Given the description of an element on the screen output the (x, y) to click on. 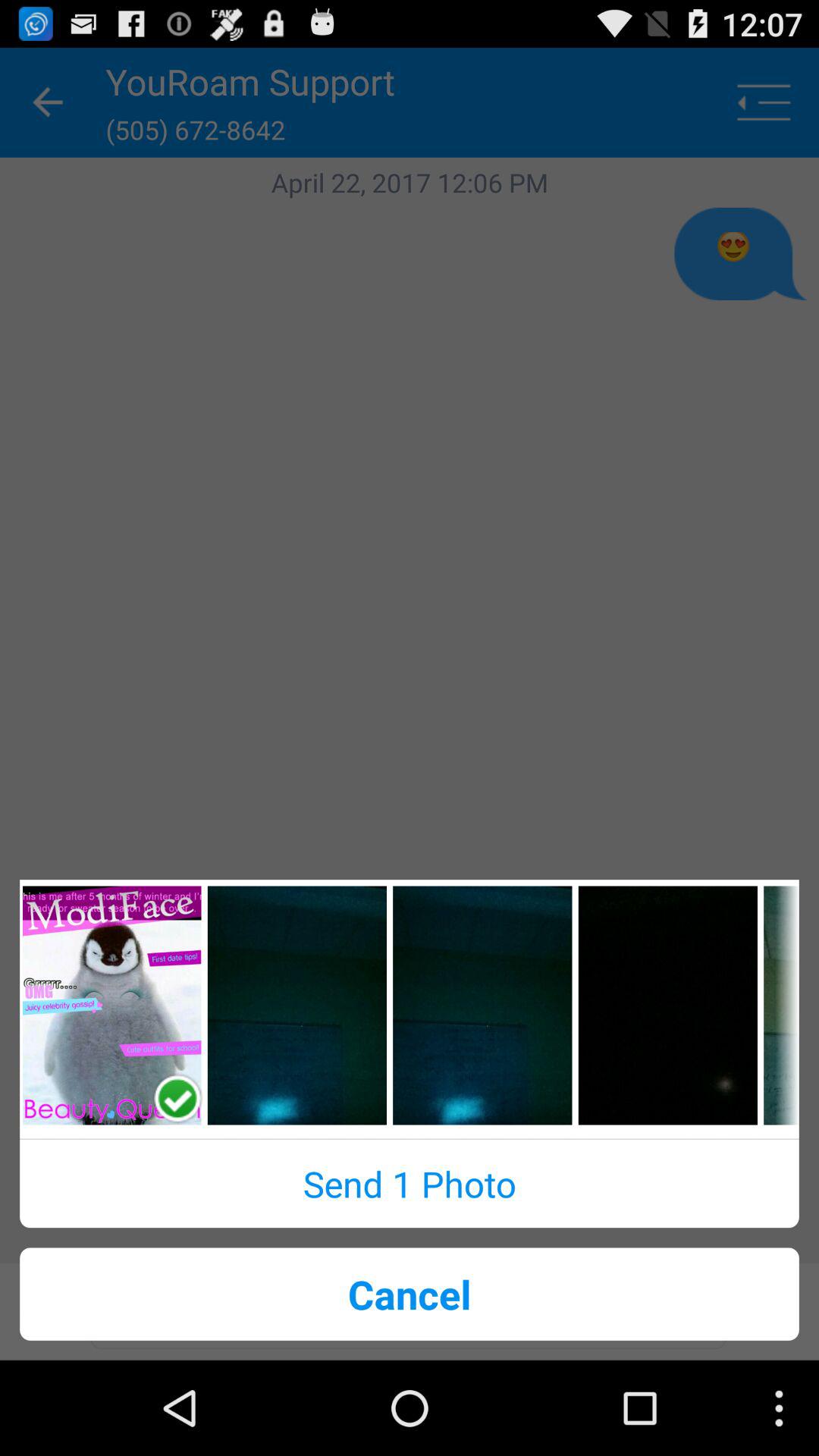
media gallery (111, 1005)
